Given the description of an element on the screen output the (x, y) to click on. 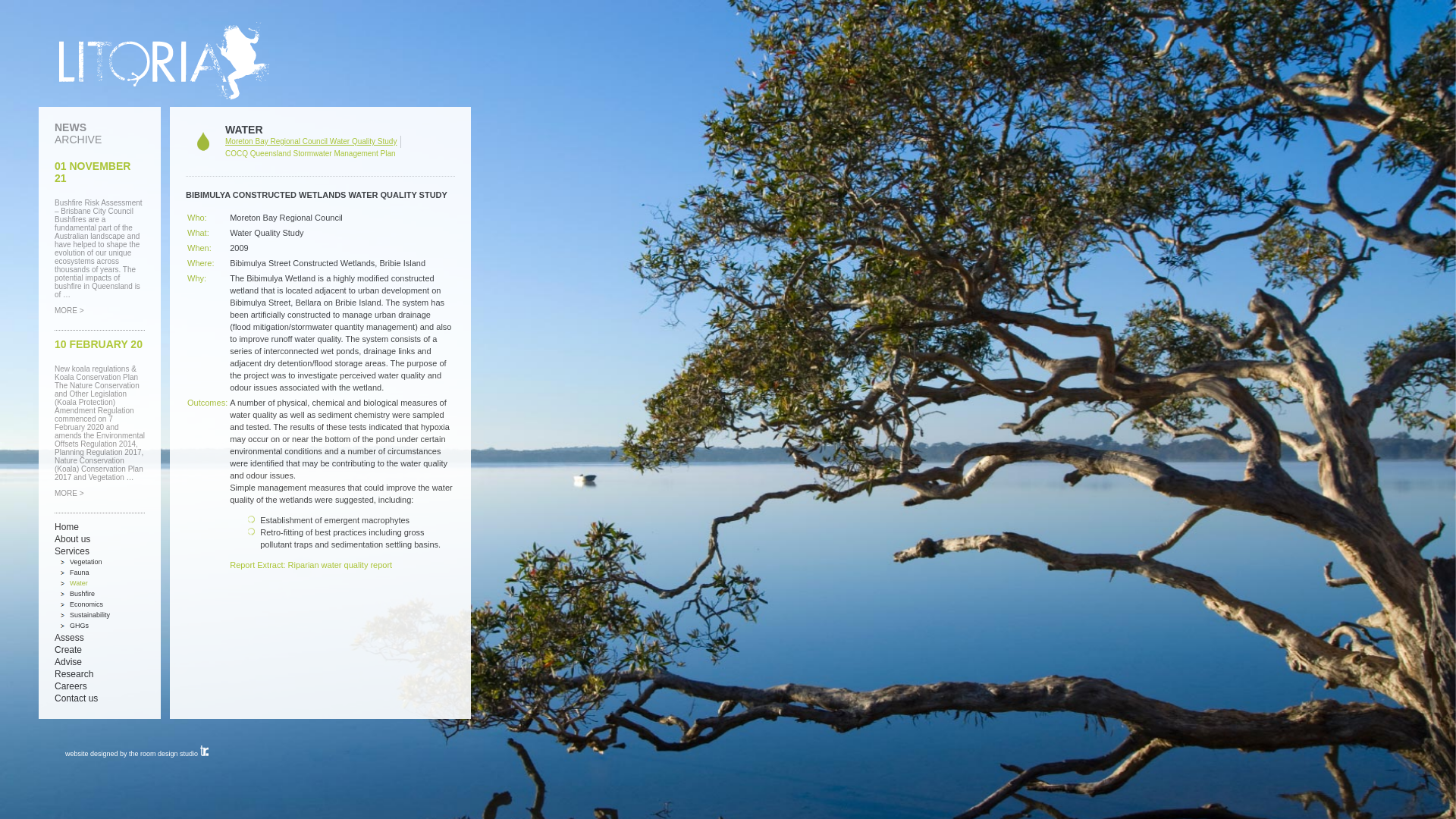
About us Element type: text (72, 538)
MORE > Element type: text (69, 310)
NEWS Element type: text (70, 127)
Vegetation Element type: text (85, 561)
01 NOVEMBER 21 Element type: text (92, 172)
10 FEBRUARY 20 Element type: text (98, 344)
website designed by the room design studio Element type: text (136, 753)
MORE > Element type: text (69, 493)
Contact us Element type: text (75, 698)
Create Element type: text (67, 649)
water Element type: hover (204, 141)
Home Element type: text (66, 526)
Water Element type: text (78, 582)
Sustainability Element type: text (89, 614)
Economics Element type: text (86, 604)
Careers Element type: text (70, 685)
Moreton Bay Regional Council Water Quality Study Element type: text (310, 141)
Research Element type: text (73, 673)
Report Extract: Riparian water quality report Element type: text (310, 564)
Advise Element type: text (67, 661)
Bushfire Element type: text (81, 593)
ARCHIVE Element type: text (77, 139)
Fauna Element type: text (79, 572)
Assess Element type: text (69, 637)
COCQ Queensland Stormwater Management Plan Element type: text (310, 153)
Services Element type: text (71, 551)
GHGs Element type: text (78, 625)
